Given the description of an element on the screen output the (x, y) to click on. 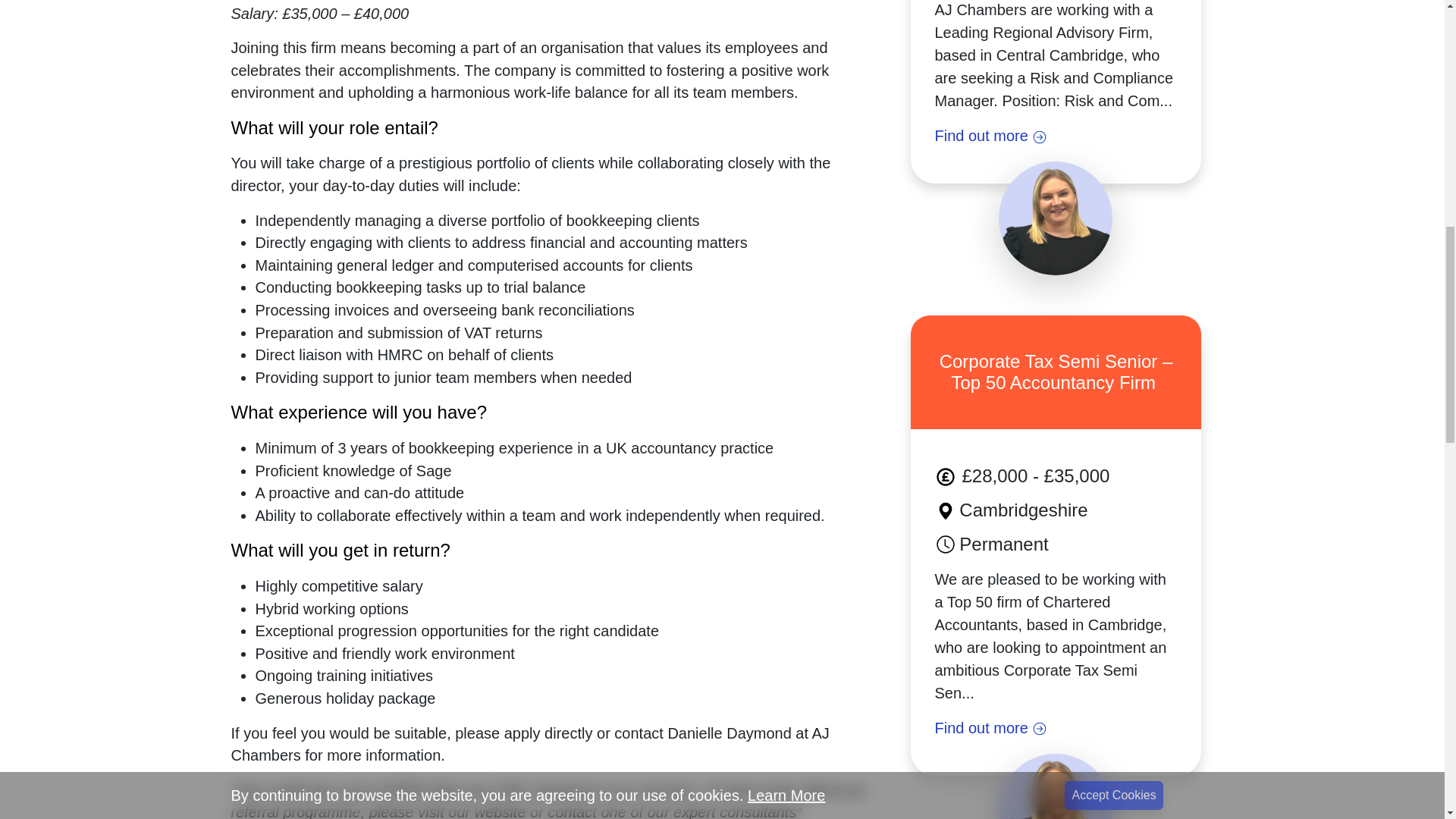
Find out more (1055, 135)
Find out more (1055, 727)
